Given the description of an element on the screen output the (x, y) to click on. 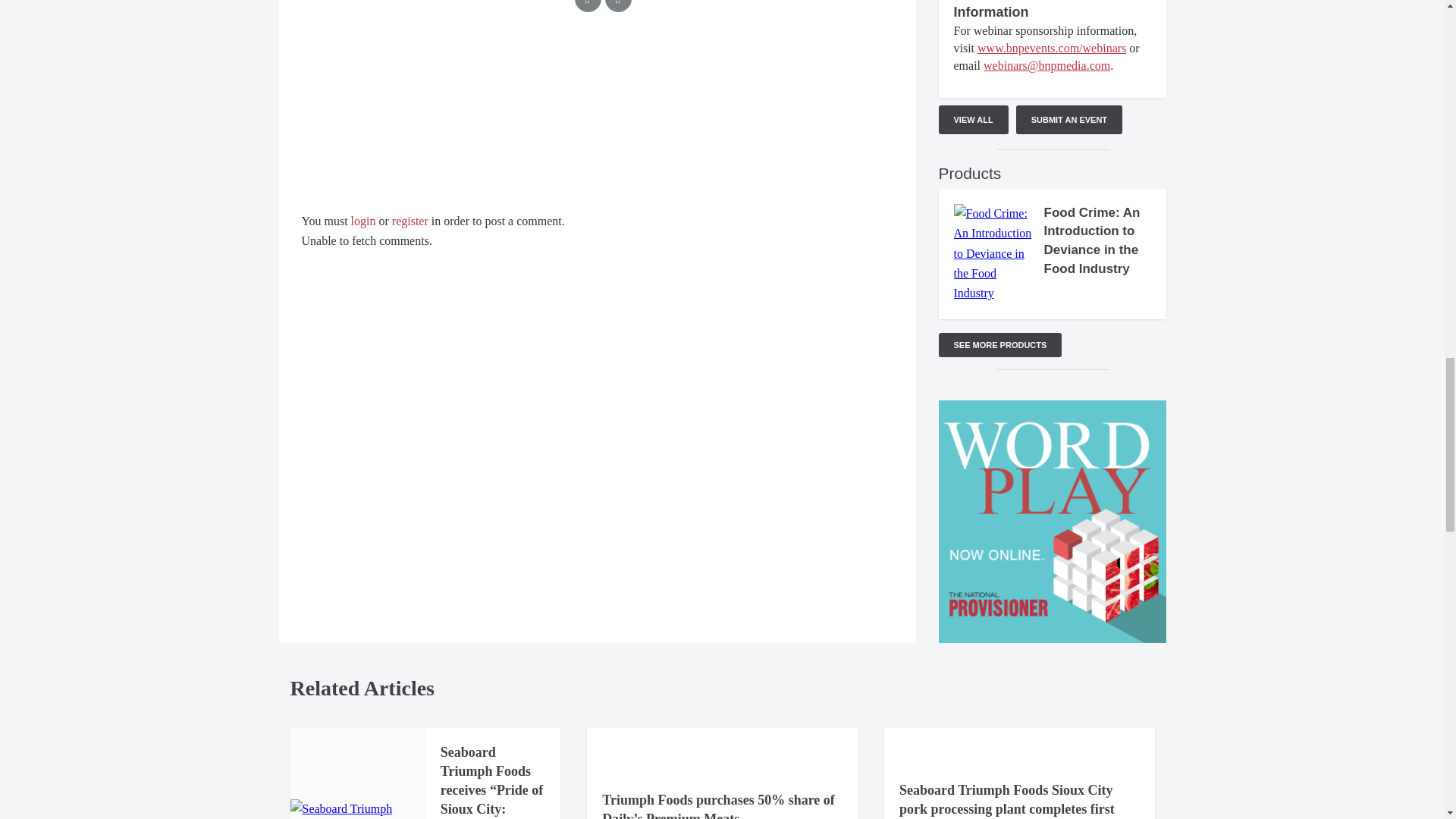
Interaction questions (597, 117)
Seaboard Triumph exterior (357, 809)
Webinar Sponsorship Information (1023, 9)
